Given the description of an element on the screen output the (x, y) to click on. 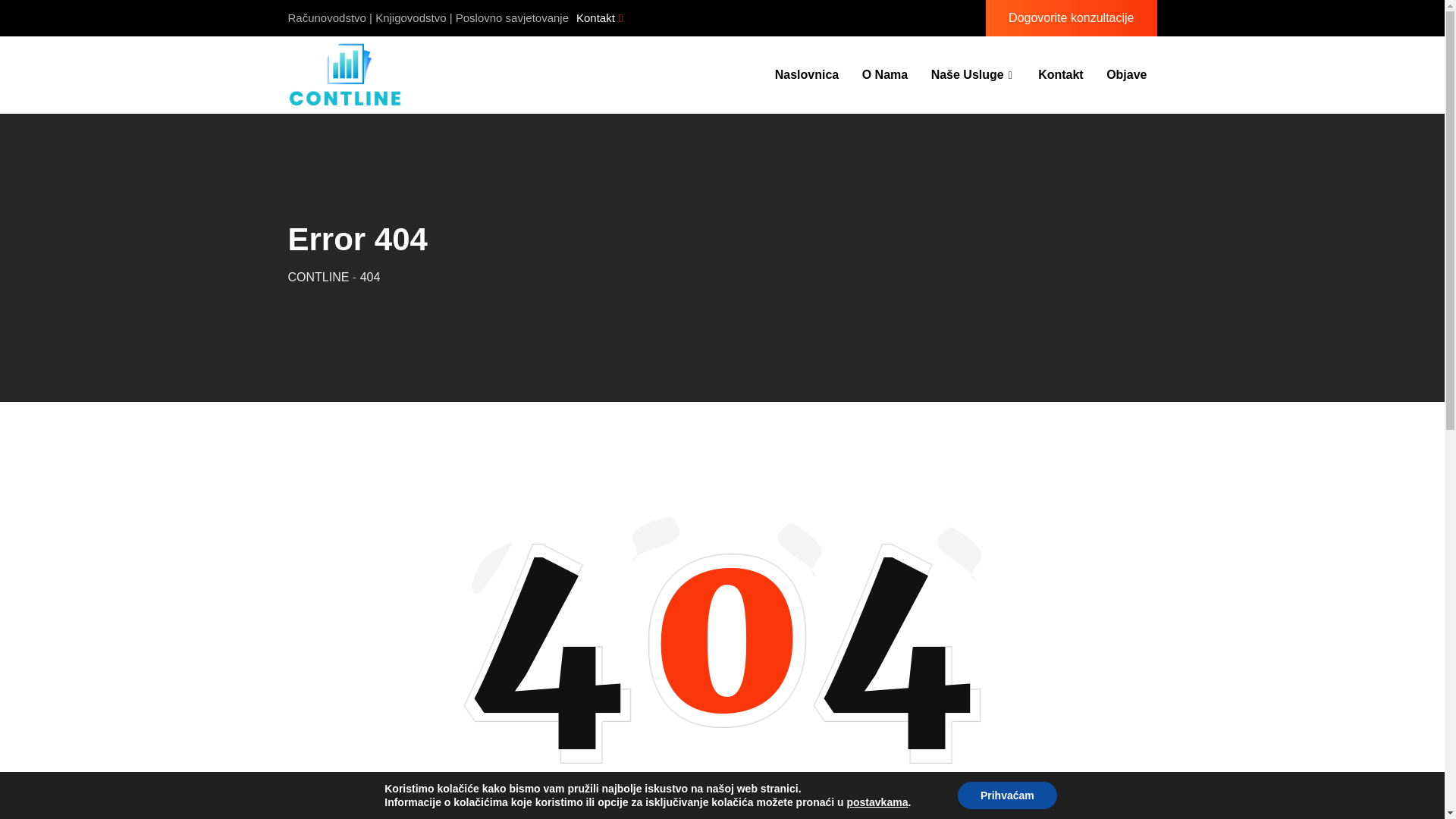
Naslovnica (806, 74)
Kontakt (599, 17)
Dogovorite konzultacije (1070, 18)
CONTLINE (318, 277)
Go to 404. (369, 277)
Go to CONTLINE. (318, 277)
404 (369, 277)
